Given the description of an element on the screen output the (x, y) to click on. 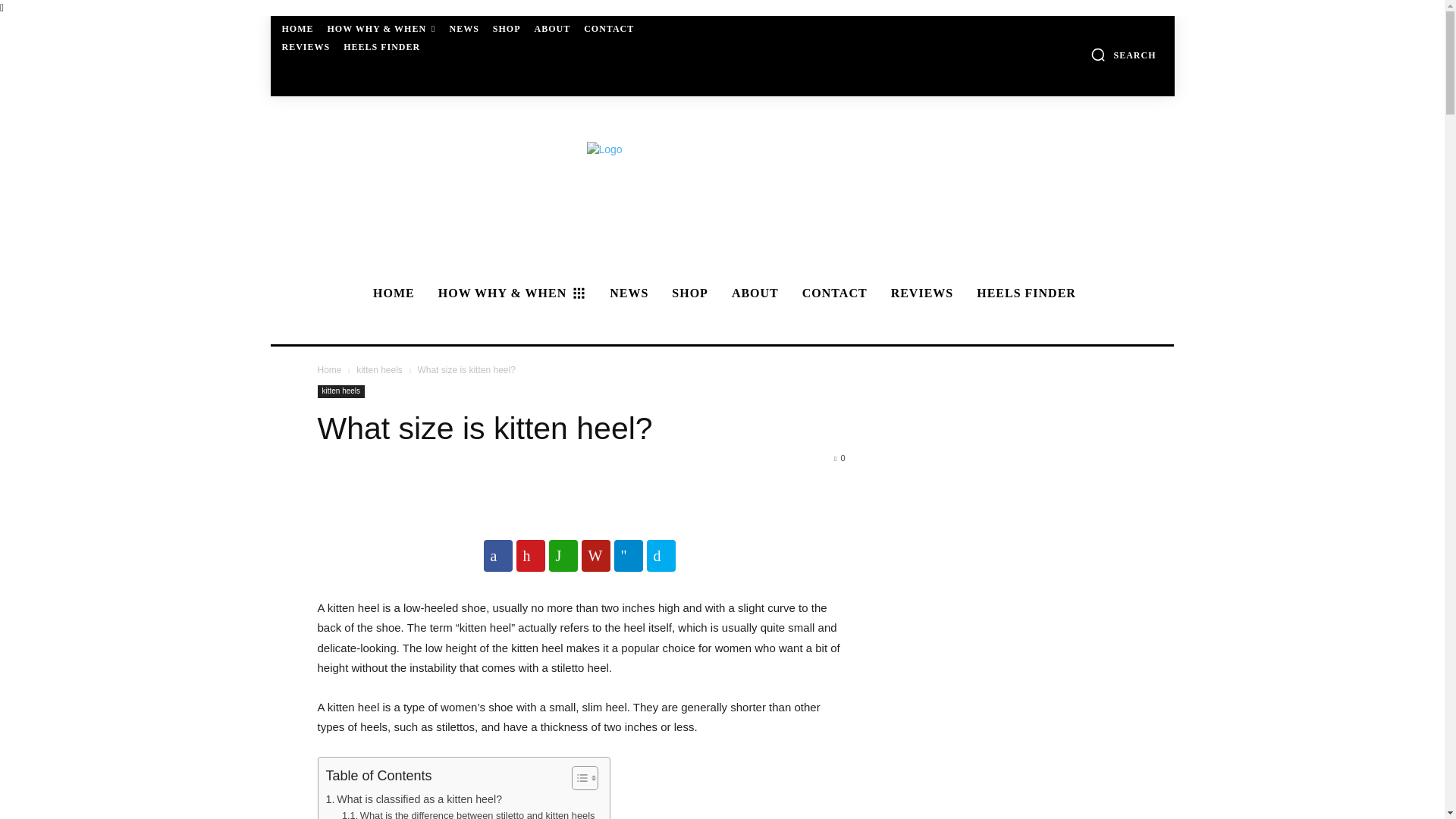
HEELS FINDER (382, 46)
Share on Facebook (497, 555)
HOME (298, 28)
ABOUT (552, 28)
SEARCH (1123, 54)
Share on Telegram (628, 555)
View all posts in kitten heels (379, 369)
REVIEWS (306, 46)
NEWS (463, 28)
CONTACT (609, 28)
Share on Pinterest (529, 555)
Share on Flipboard (595, 555)
SHOP (506, 28)
HOME (391, 293)
Share on WhatsApp (563, 555)
